Given the description of an element on the screen output the (x, y) to click on. 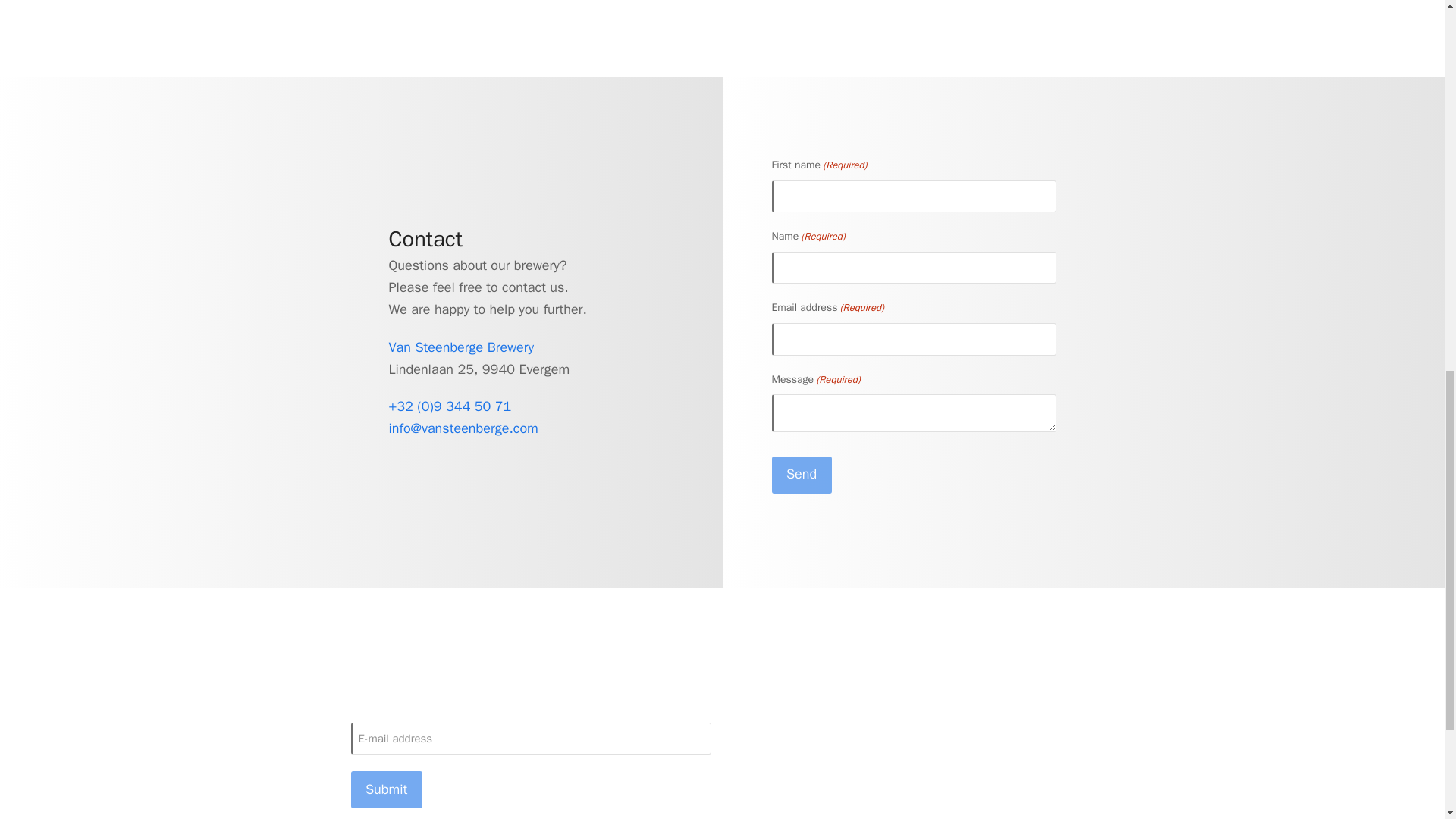
Submit (386, 789)
Van Steenberge Brewery (461, 347)
Send (801, 474)
Send (801, 474)
Submit (386, 789)
